Given the description of an element on the screen output the (x, y) to click on. 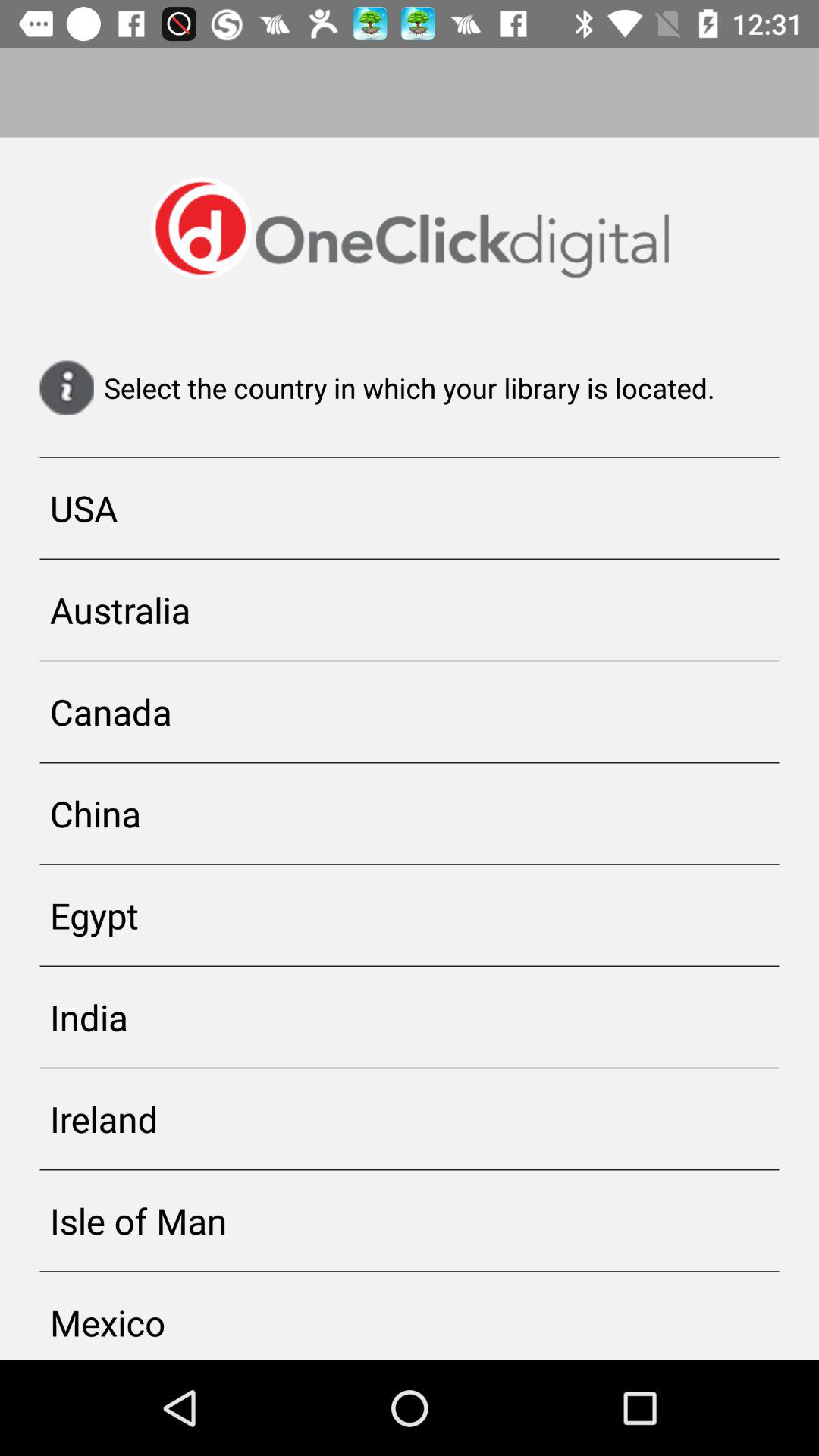
click the ireland icon (409, 1118)
